Given the description of an element on the screen output the (x, y) to click on. 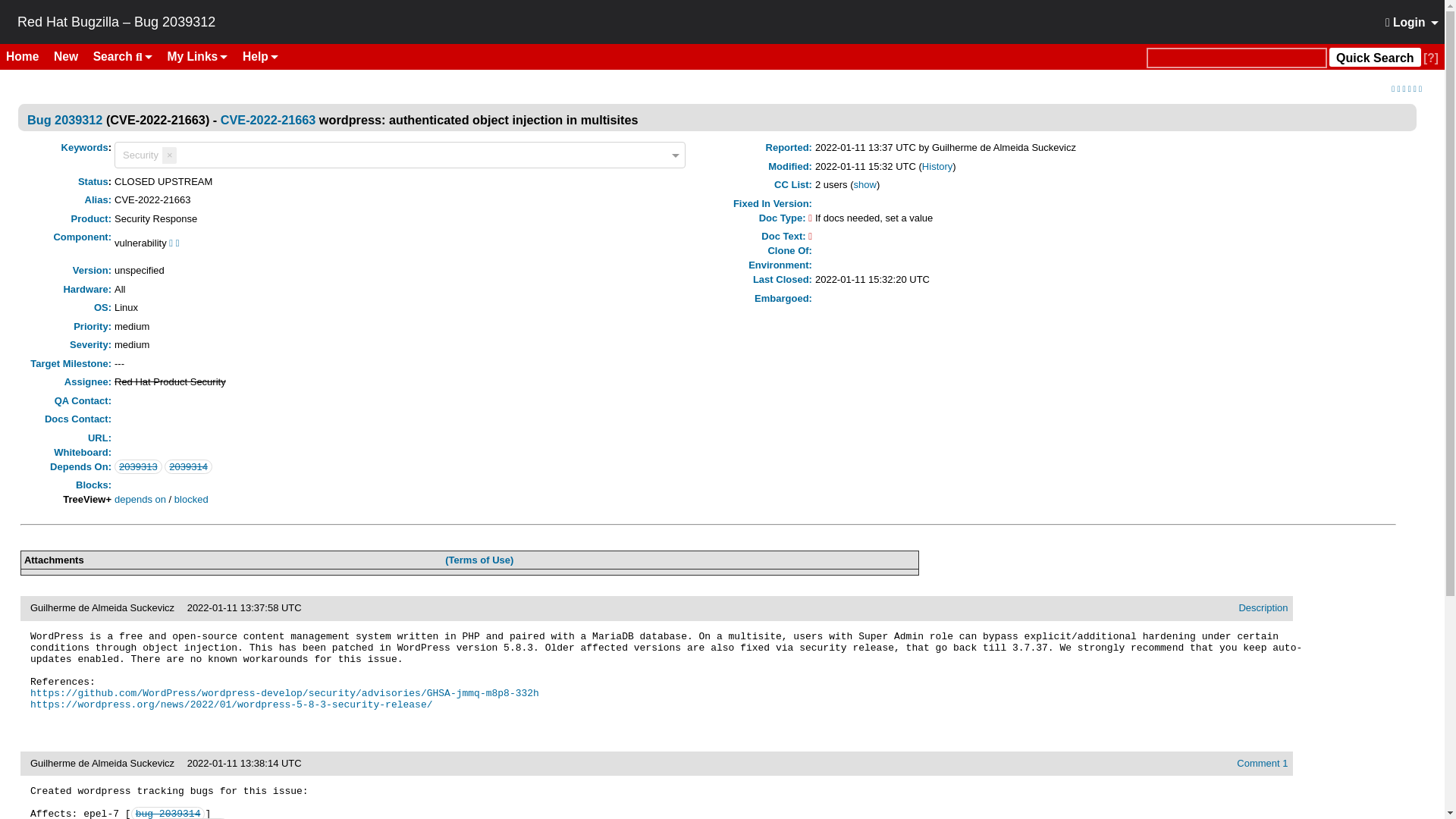
Last Comment (1415, 88)
My Links (197, 56)
Help (259, 56)
New (72, 56)
Remove (168, 155)
Create a new bug for this component (177, 242)
Show other bugs for this component (170, 242)
Search (122, 56)
Quick Search (1236, 57)
